Given the description of an element on the screen output the (x, y) to click on. 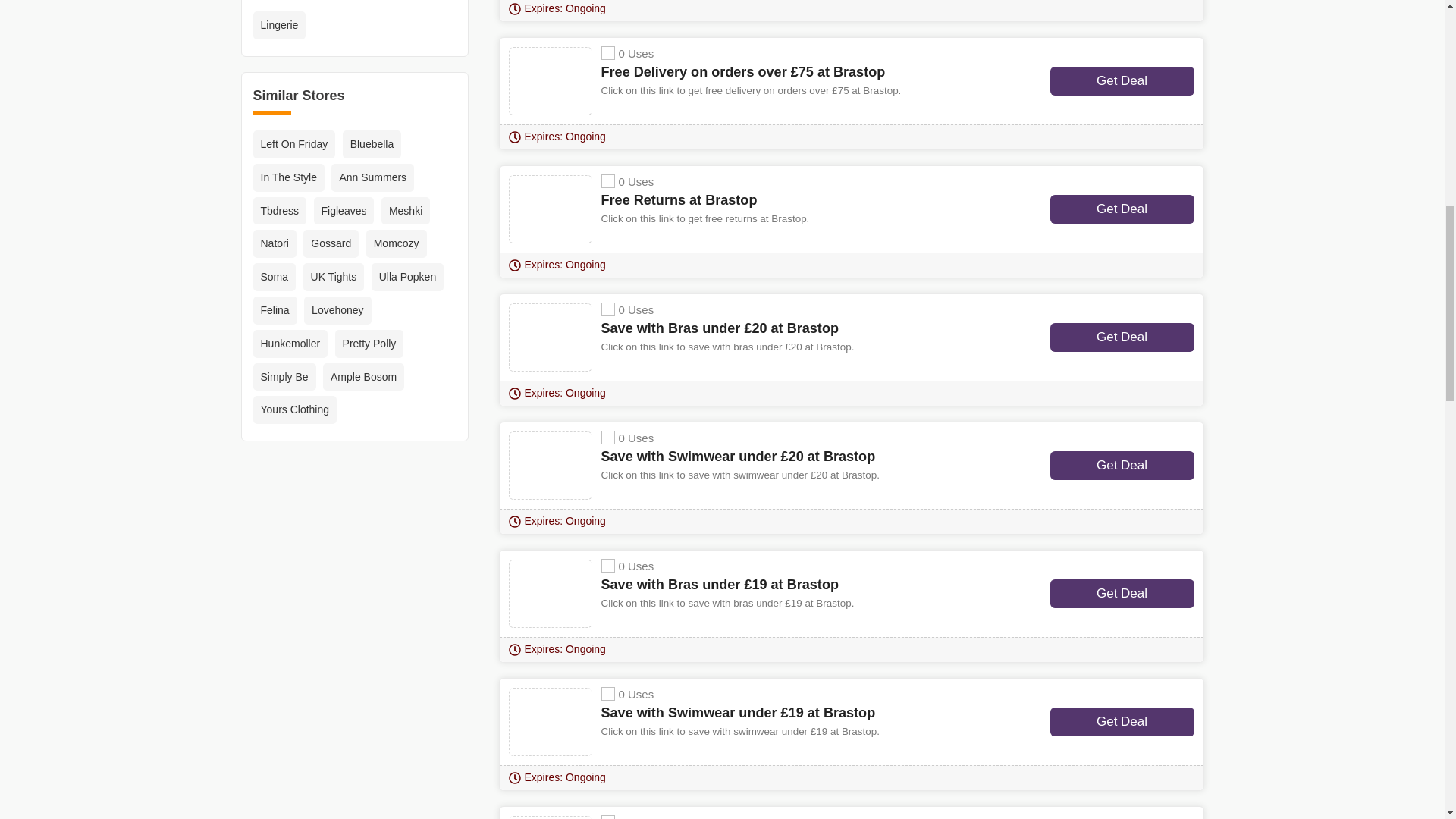
Hunkemoller (291, 343)
Yours Clothing (295, 409)
Natori (275, 243)
Ann Summers (372, 177)
Ample Bosom (363, 377)
Tbdress (280, 211)
UK Tights (333, 276)
Felina (275, 310)
Momcozy (396, 243)
Pretty Polly (369, 343)
Simply Be (284, 377)
Gossard (330, 243)
Left On Friday (294, 144)
Lovehoney (337, 310)
Ulla Popken (407, 276)
